Given the description of an element on the screen output the (x, y) to click on. 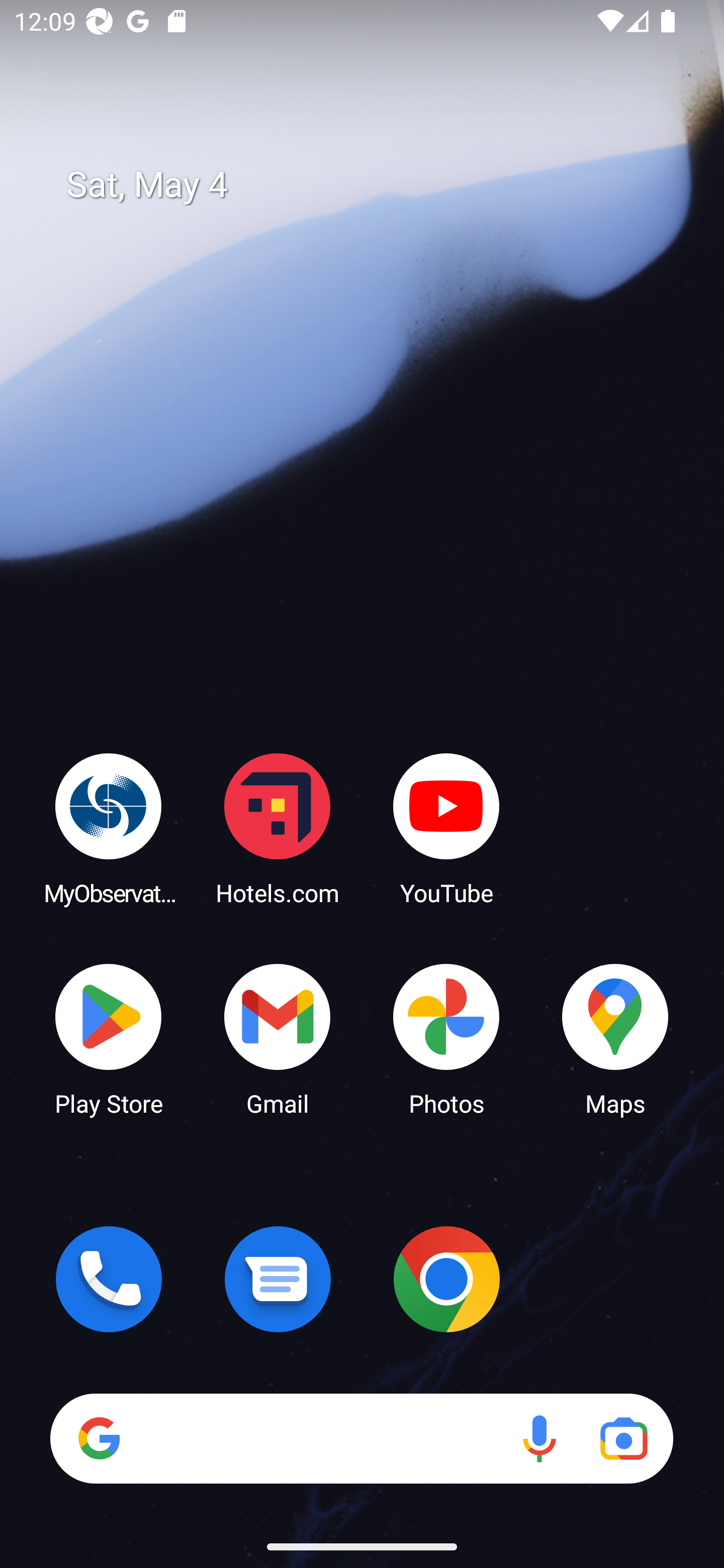
Sat, May 4 (375, 184)
MyObservatory (108, 828)
Hotels.com (277, 828)
YouTube (445, 828)
Play Store (108, 1038)
Gmail (277, 1038)
Photos (445, 1038)
Maps (615, 1038)
Phone (108, 1279)
Messages (277, 1279)
Chrome (446, 1279)
Search Voice search Google Lens (361, 1438)
Voice search (539, 1438)
Google Lens (623, 1438)
